Given the description of an element on the screen output the (x, y) to click on. 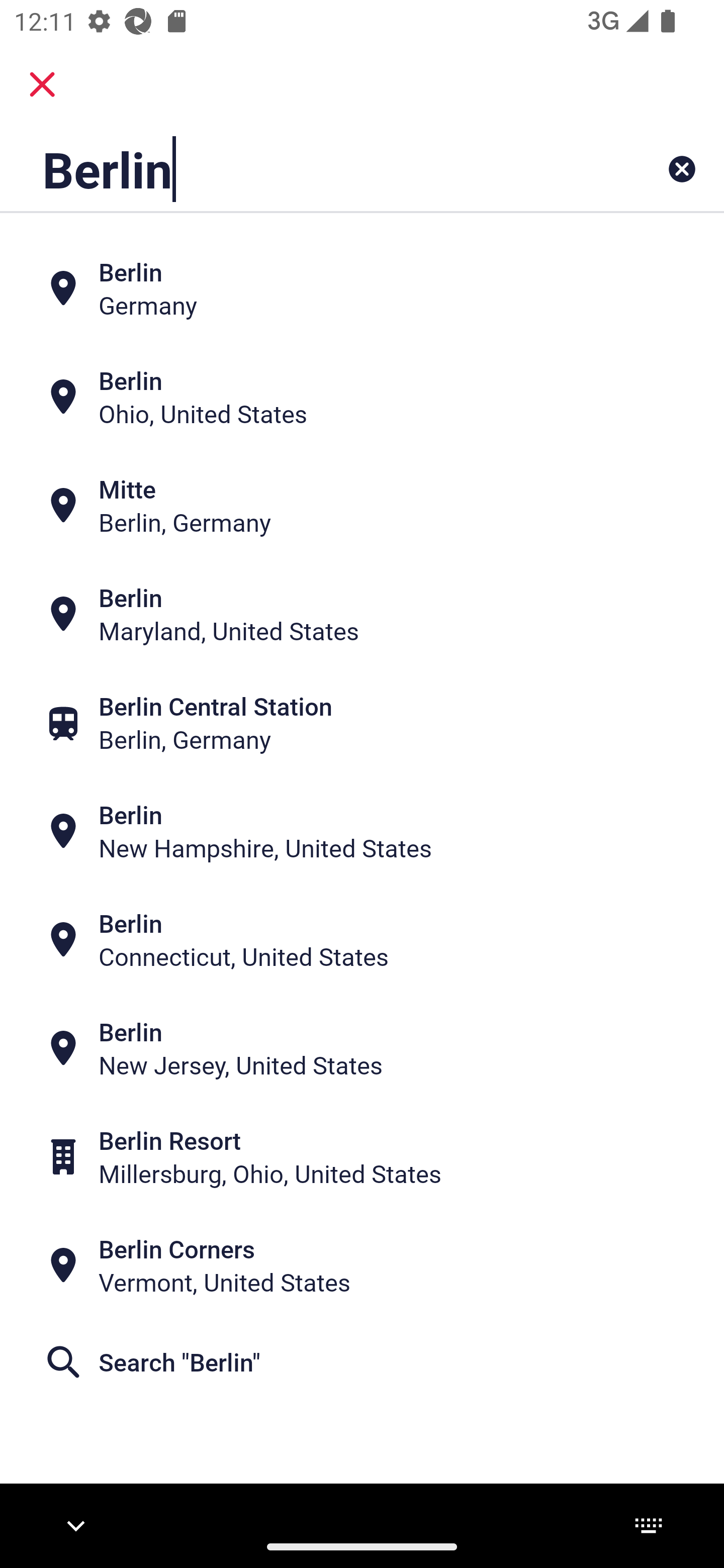
close. (42, 84)
Clear (681, 169)
Berlin (298, 169)
Berlin Germany (362, 288)
Berlin Ohio, United States (362, 397)
Mitte Berlin, Germany (362, 505)
Berlin Maryland, United States (362, 613)
Berlin Central Station Berlin, Germany (362, 722)
Berlin New Hampshire, United States (362, 831)
Berlin Connecticut, United States (362, 939)
Berlin New Jersey, United States (362, 1048)
Berlin Resort Millersburg, Ohio, United States (362, 1156)
Berlin Corners Vermont, United States (362, 1265)
Search "Berlin" (362, 1362)
